Given the description of an element on the screen output the (x, y) to click on. 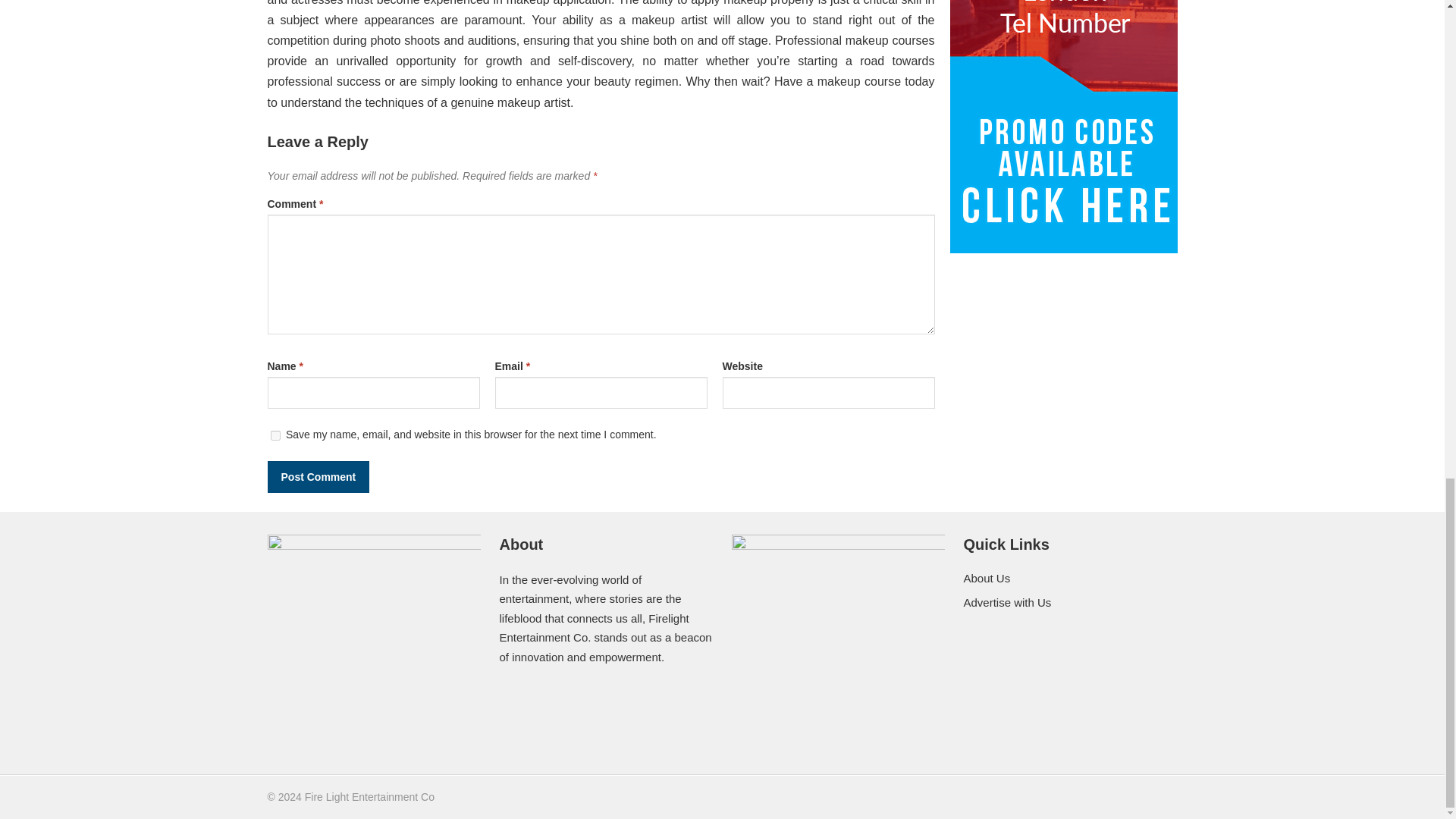
Fire Light Entertainment Co (368, 797)
Post Comment (317, 477)
About Us (986, 577)
Post Comment (317, 477)
yes (274, 435)
Advertise with Us (1006, 602)
